Given the description of an element on the screen output the (x, y) to click on. 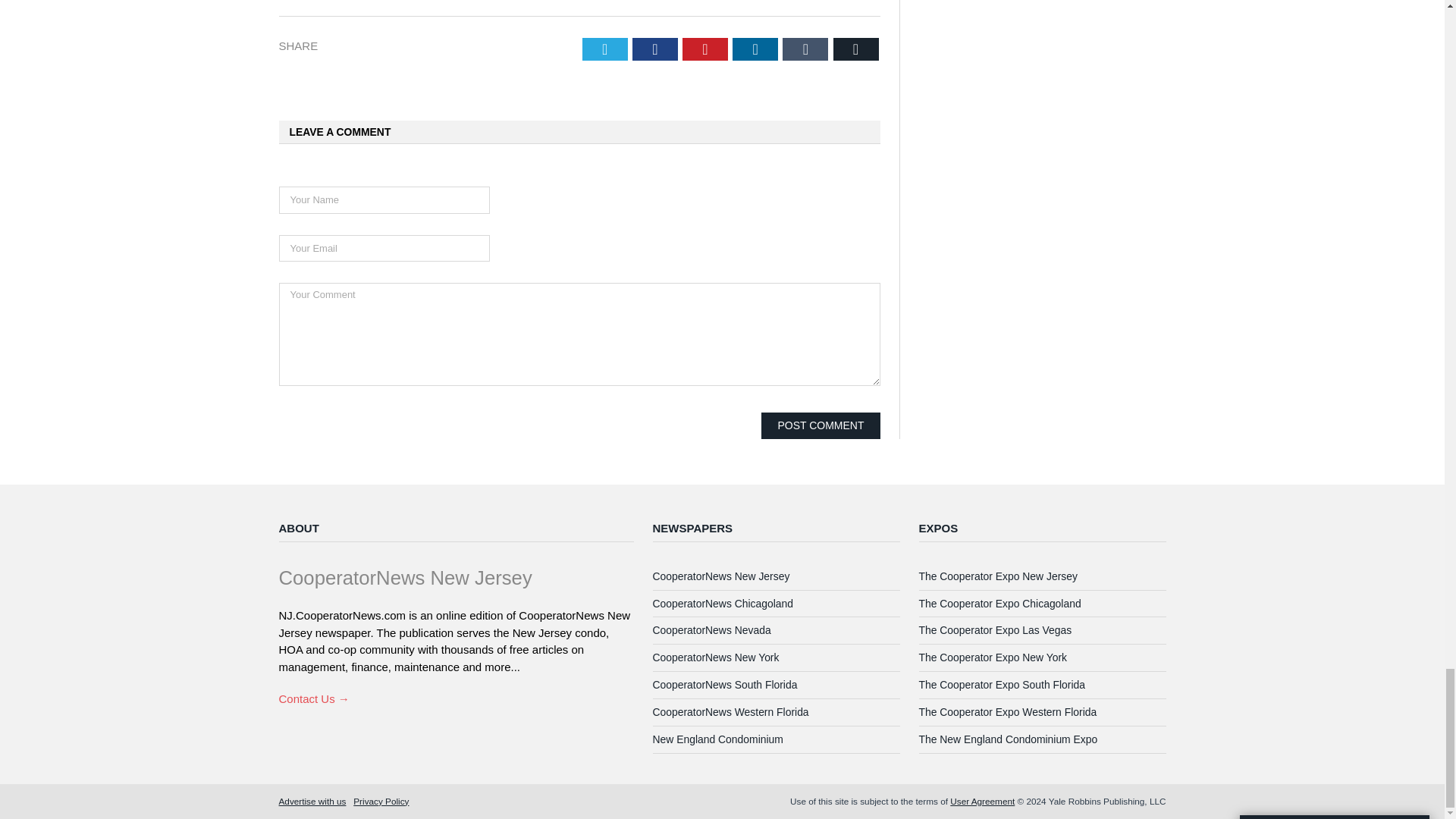
Share via Email (854, 48)
Share on Tumblr (805, 48)
Post Comment (820, 425)
Share on Pinterest (705, 48)
Tweet It (604, 48)
Share on Facebook (654, 48)
Share on LinkedIn (754, 48)
